Given the description of an element on the screen output the (x, y) to click on. 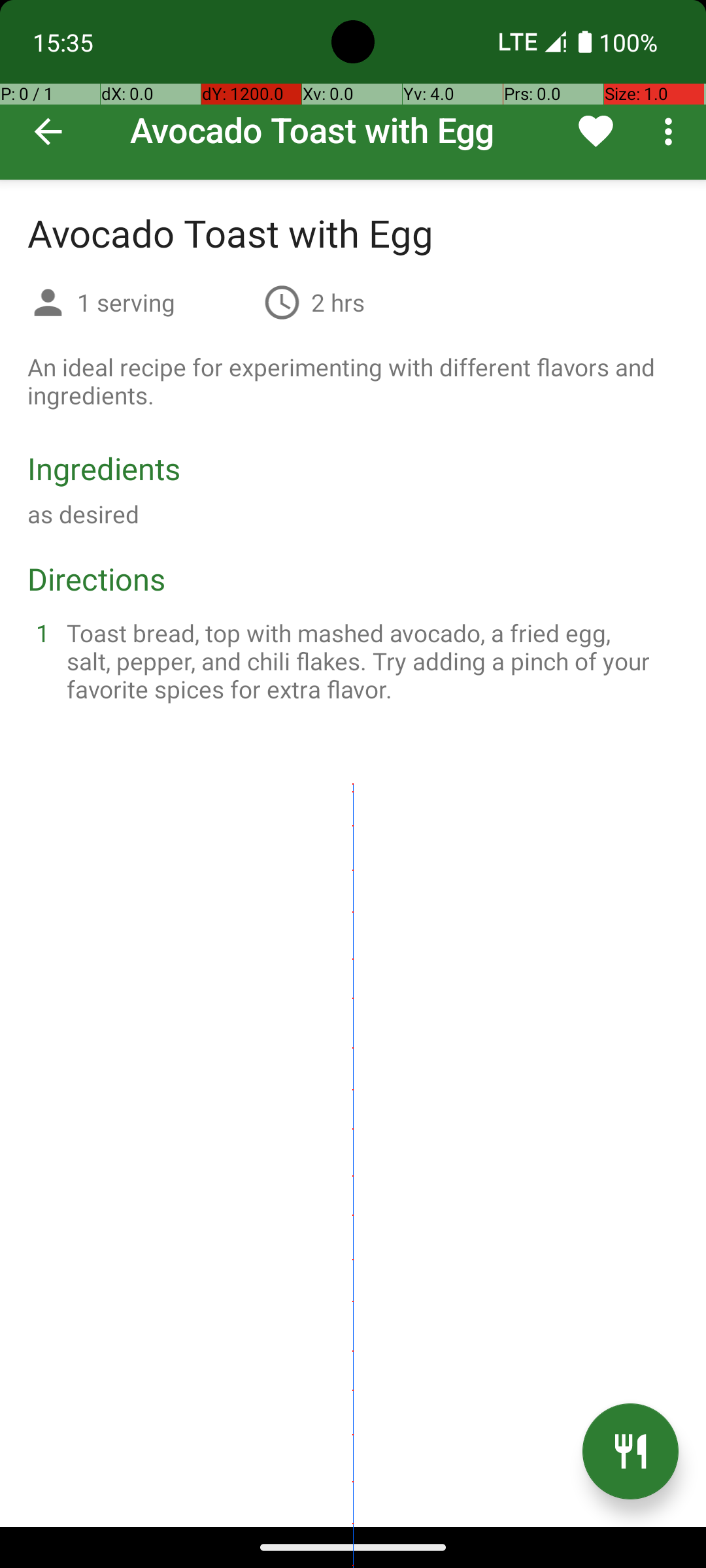
as desired Element type: android.widget.TextView (83, 513)
Toast bread, top with mashed avocado, a fried egg, salt, pepper, and chili flakes. Try adding a pinch of your favorite spices for extra flavor. Element type: android.widget.TextView (368, 660)
